Given the description of an element on the screen output the (x, y) to click on. 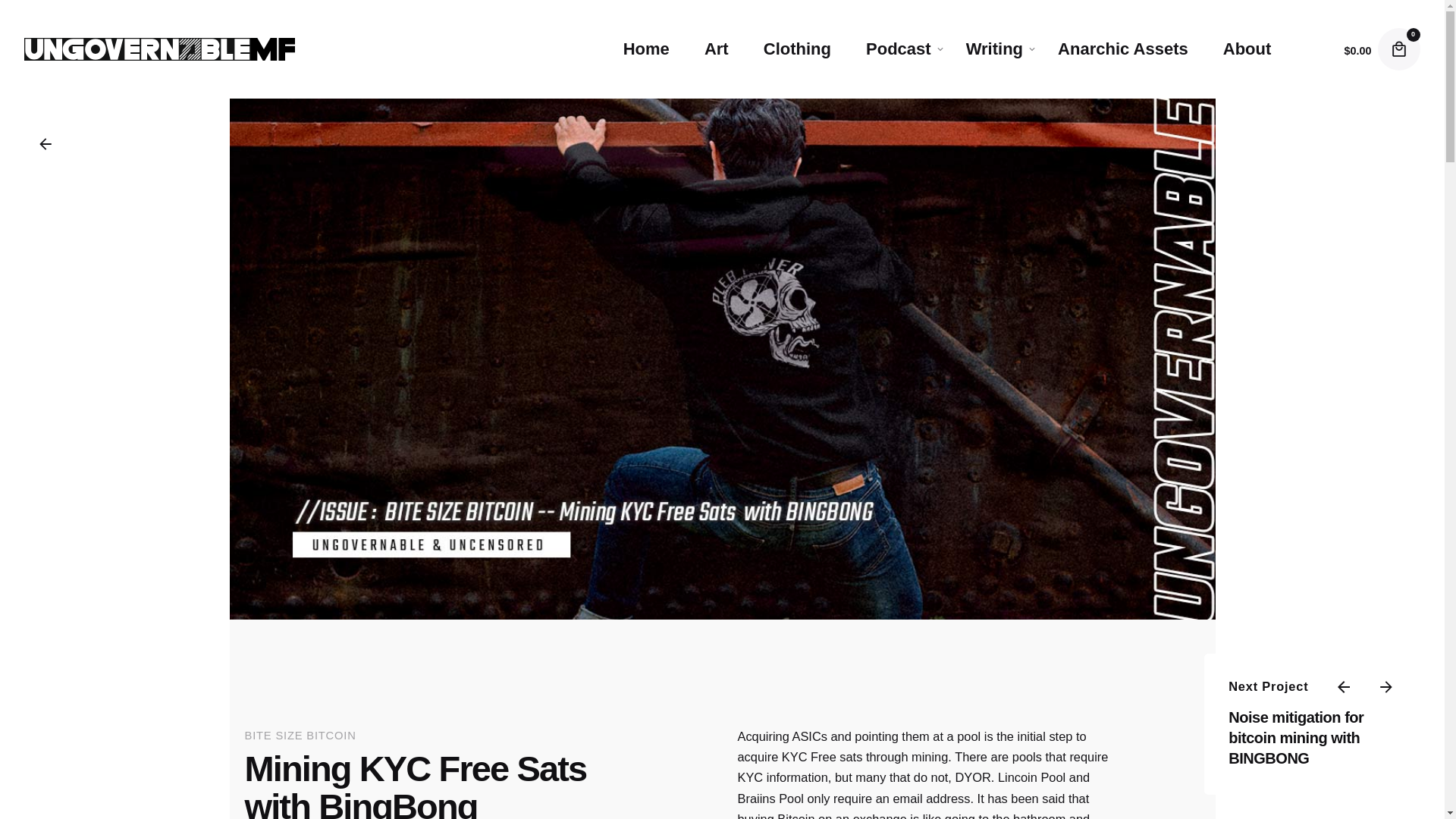
Clothing (796, 49)
Libsyn Player (721, 659)
Anarchic Assets (1123, 49)
Art (716, 49)
Podcast (898, 49)
Writing (995, 49)
Home (646, 49)
About (1246, 49)
